Given the description of an element on the screen output the (x, y) to click on. 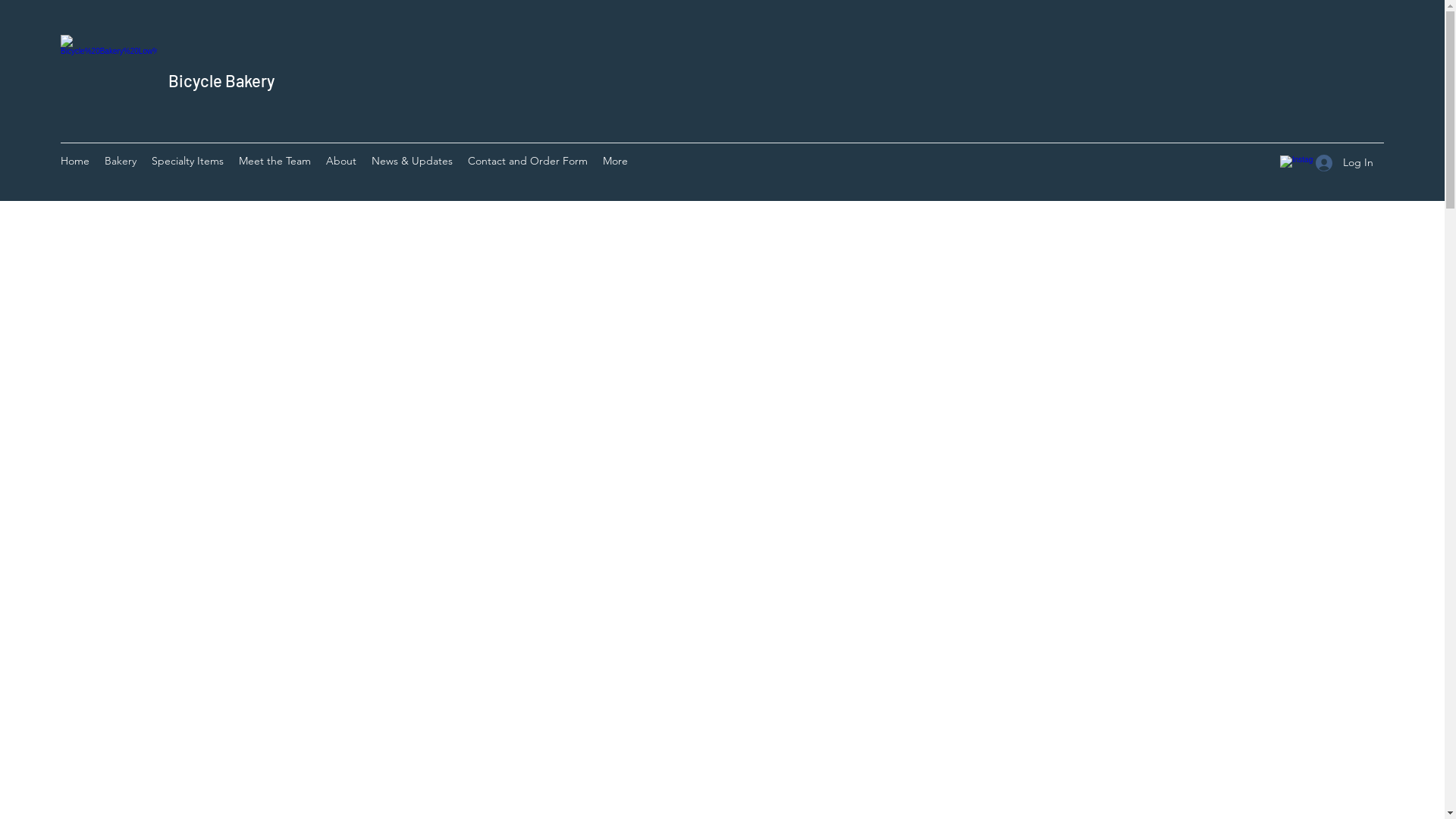
Log In Element type: text (1344, 162)
Specialty Items Element type: text (187, 162)
Bicycle Bakery Element type: text (221, 80)
Bakery Element type: text (120, 162)
News & Updates Element type: text (412, 162)
About Element type: text (341, 162)
Meet the Team Element type: text (274, 162)
Contact and Order Form Element type: text (527, 162)
Home Element type: text (75, 162)
